Given the description of an element on the screen output the (x, y) to click on. 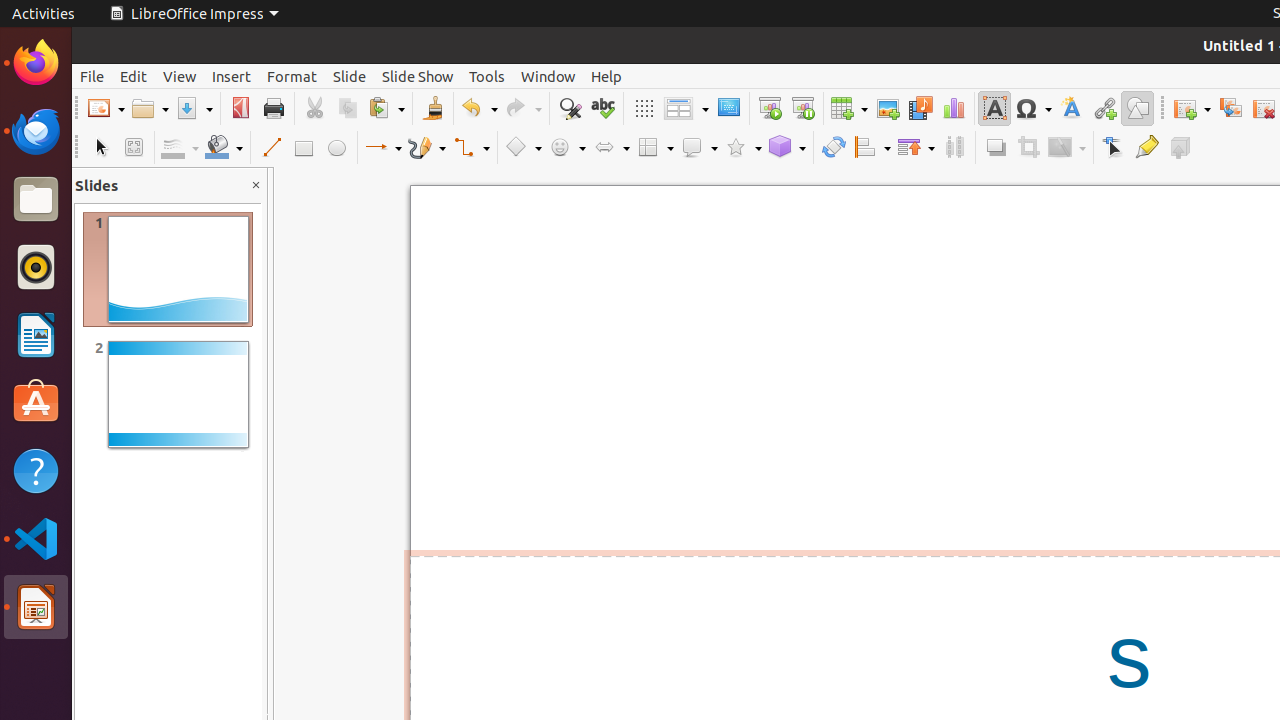
Glue Points Element type: push-button (1146, 147)
Spelling Element type: push-button (602, 108)
Print Element type: push-button (273, 108)
Rotate Element type: push-button (833, 147)
Callout Shapes Element type: push-button (699, 147)
